Given the description of an element on the screen output the (x, y) to click on. 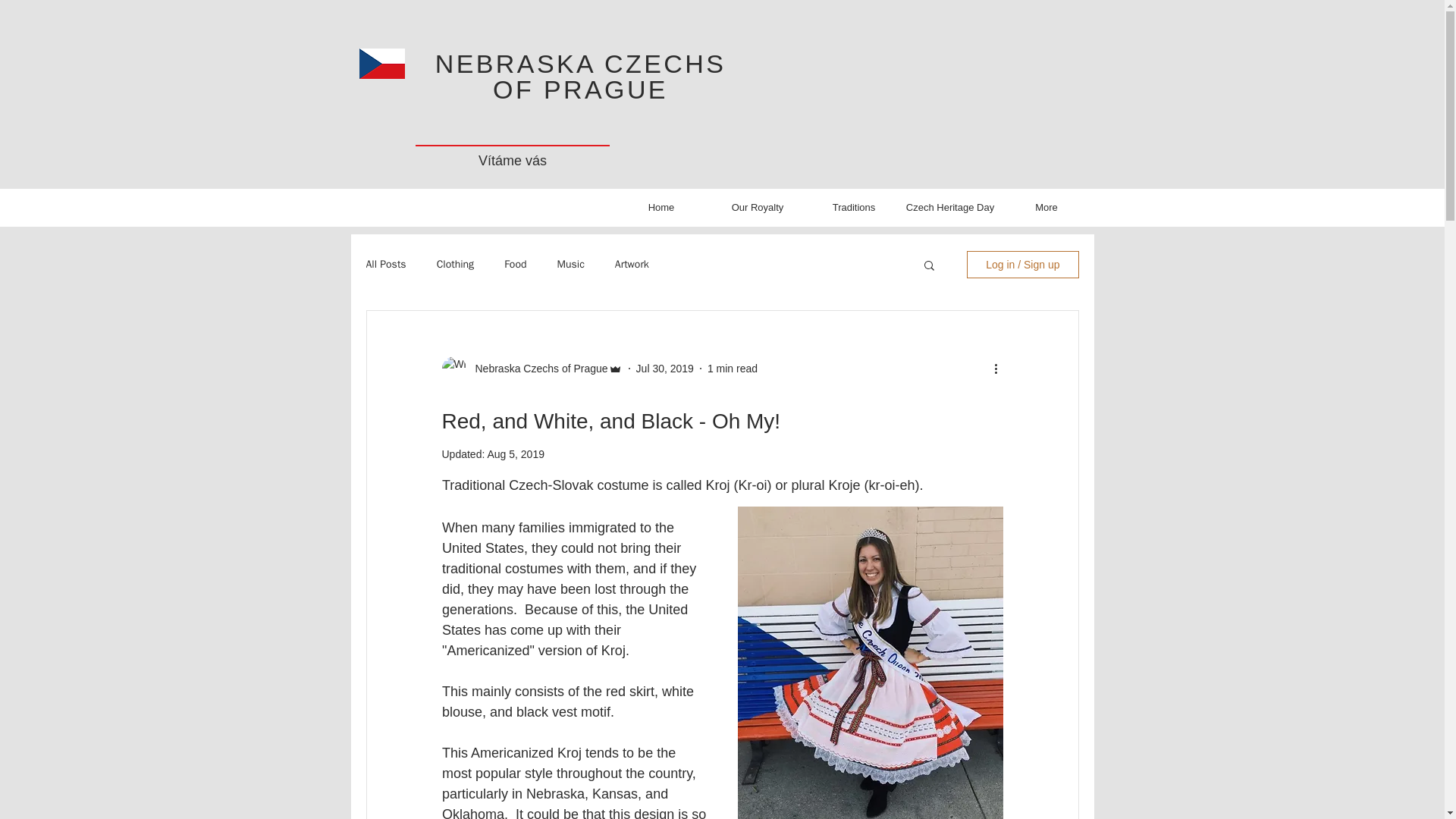
Jul 30, 2019 (665, 368)
Food (514, 264)
1 min read (732, 368)
Nebraska Czechs of Prague  (536, 368)
Clothing (455, 264)
Artwork (631, 264)
All Posts (385, 264)
Traditions (852, 207)
Aug 5, 2019 (515, 453)
NEBRASKA CZECHS OF PRAGUE (580, 76)
Home (660, 207)
Music (569, 264)
Our Royalty (758, 207)
Czech Heritage Day (950, 207)
